Given the description of an element on the screen output the (x, y) to click on. 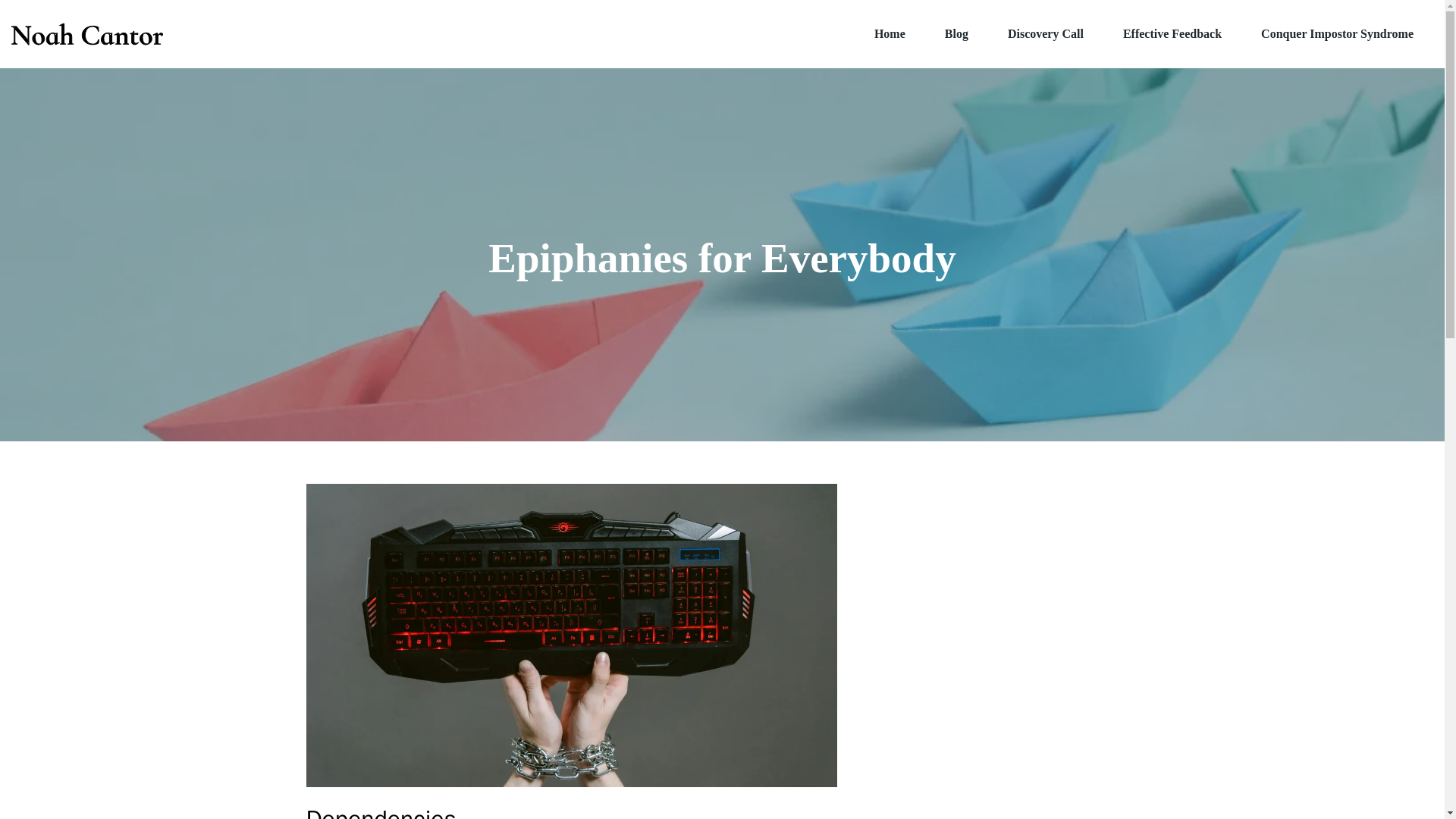
Home (889, 33)
Discovery Call (1045, 33)
Effective Feedback (1172, 33)
Blog (956, 33)
Conquer Impostor Syndrome (1336, 33)
